Given the description of an element on the screen output the (x, y) to click on. 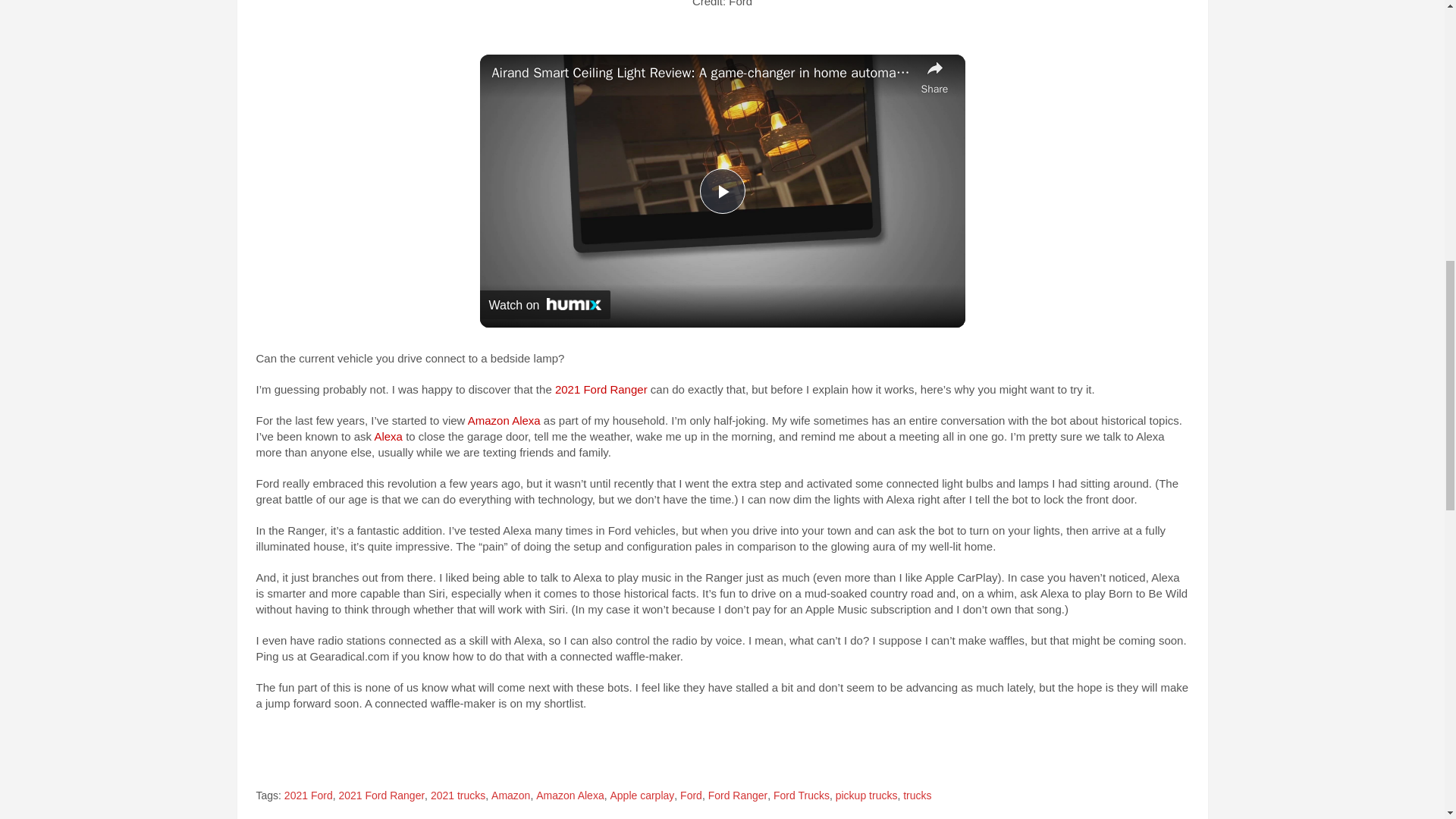
Play Video (721, 190)
Play Video (721, 190)
Watch on (544, 304)
